Given the description of an element on the screen output the (x, y) to click on. 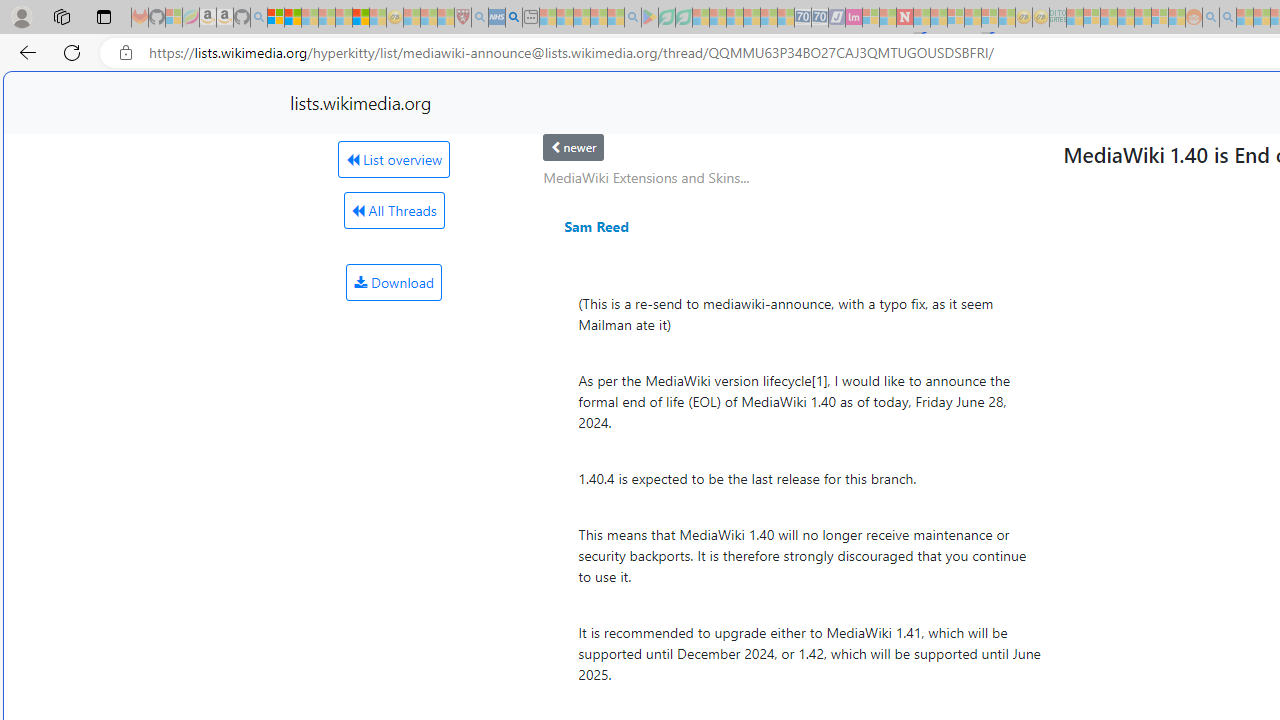
Sam Reed (596, 226)
